Given the description of an element on the screen output the (x, y) to click on. 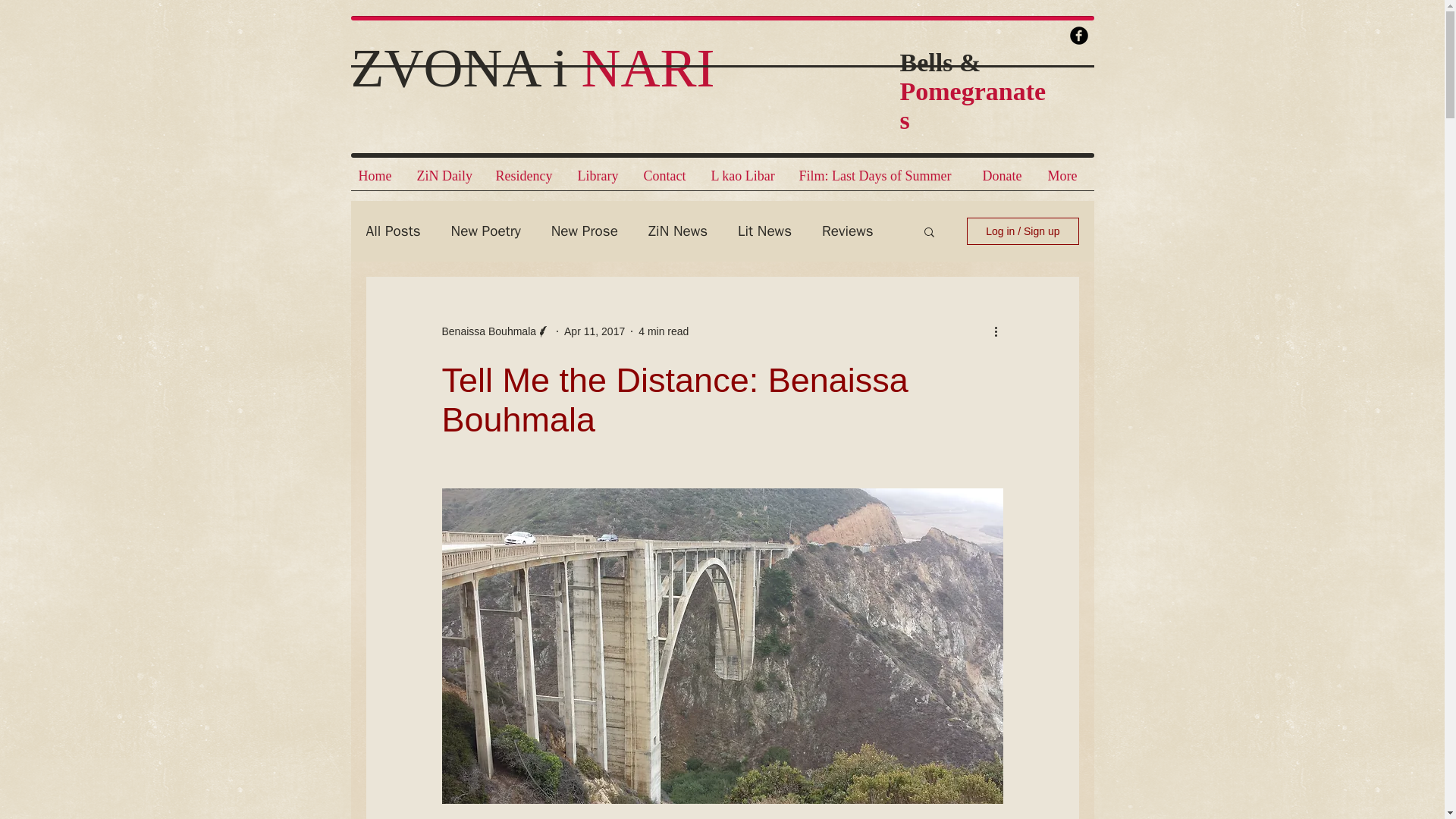
New Poetry (486, 230)
Home (379, 180)
ZiN News (677, 230)
Reviews (847, 230)
Benaissa Bouhmala (488, 330)
All Posts (392, 230)
New Prose (584, 230)
Apr 11, 2017 (594, 330)
Residency (528, 180)
L kao Libar (747, 180)
